Given the description of an element on the screen output the (x, y) to click on. 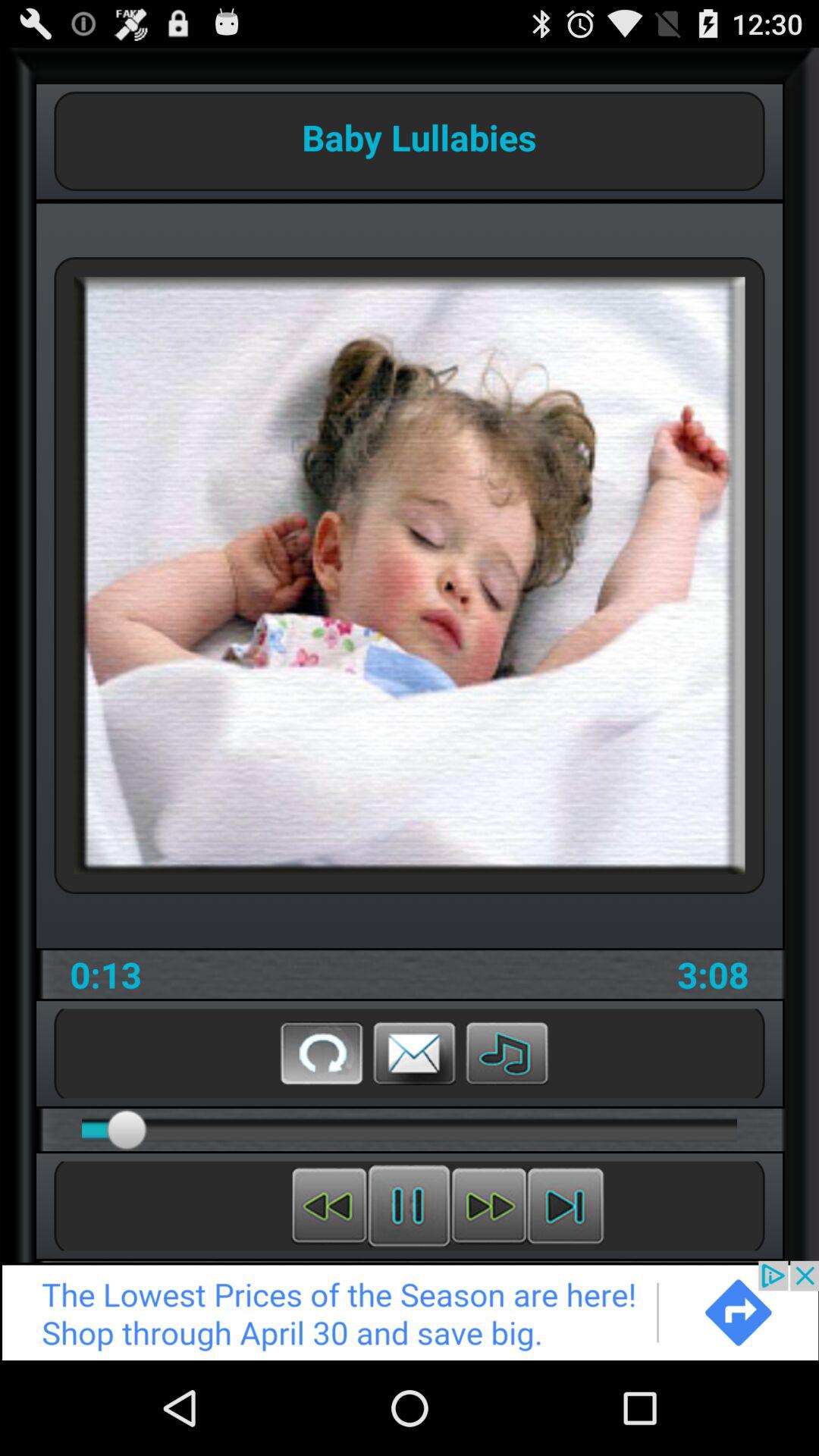
pause (408, 1205)
